Given the description of an element on the screen output the (x, y) to click on. 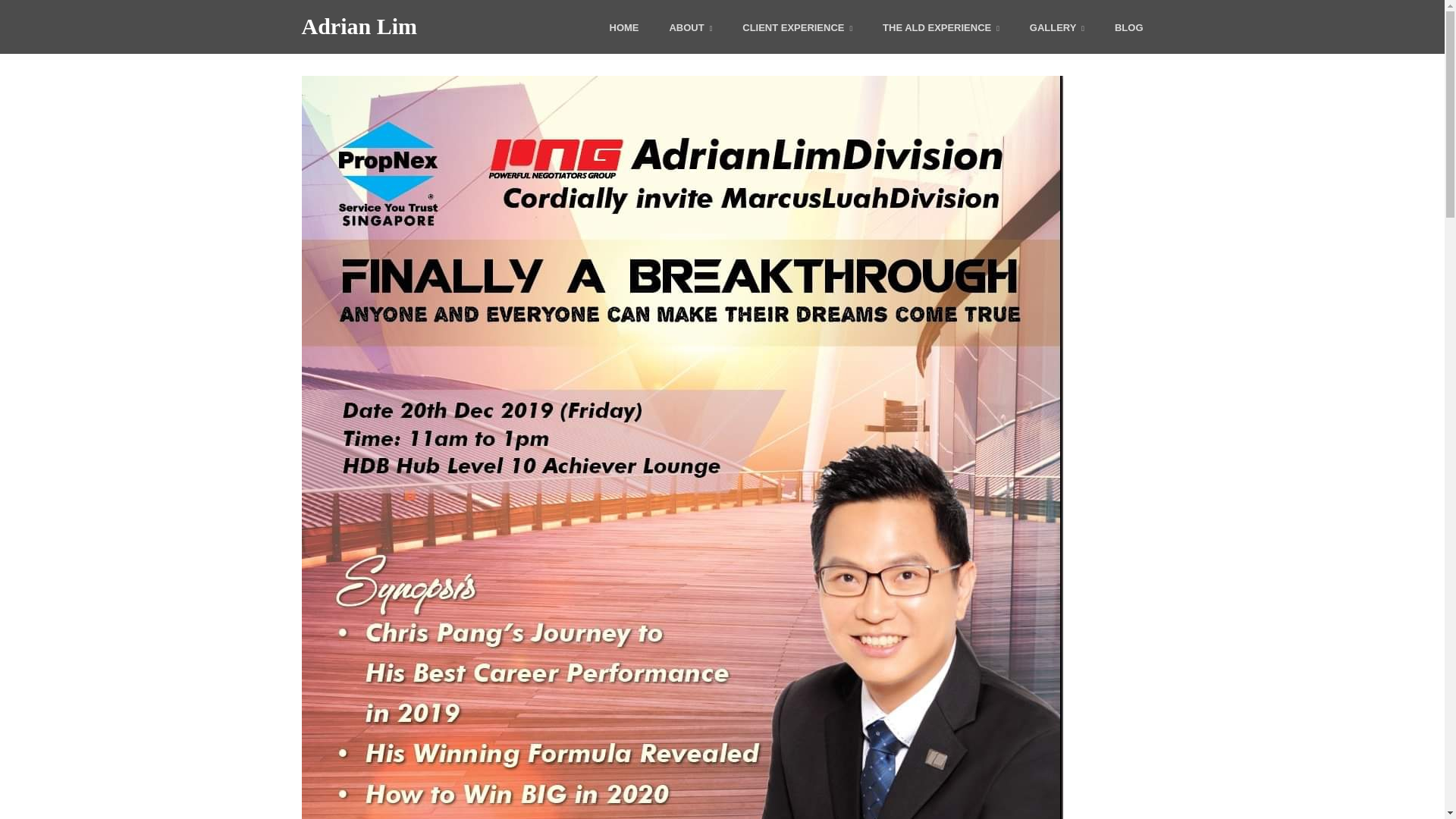
CLIENT EXPERIENCE (796, 28)
GALLERY (1056, 28)
THE ALD EXPERIENCE (940, 28)
ABOUT (689, 28)
BLOG (1128, 28)
HOME (624, 28)
Adrian Lim (359, 26)
